Given the description of an element on the screen output the (x, y) to click on. 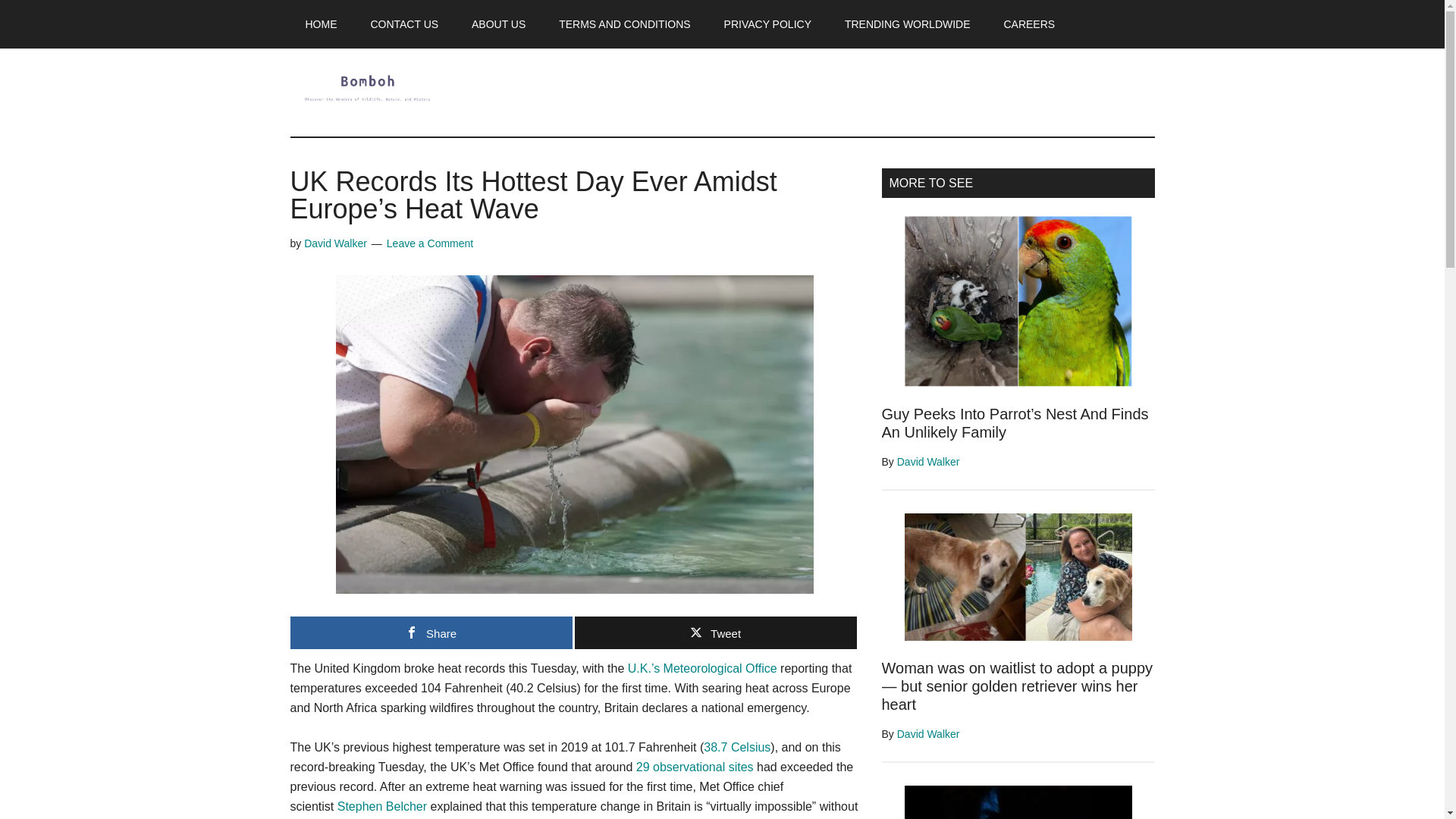
CAREERS (1029, 24)
Tweet (716, 632)
TERMS AND CONDITIONS (623, 24)
29 observational sites (695, 766)
Share (430, 632)
Leave a Comment (430, 243)
HOME (320, 24)
TRENDING WORLDWIDE (907, 24)
David Walker (335, 243)
